Given the description of an element on the screen output the (x, y) to click on. 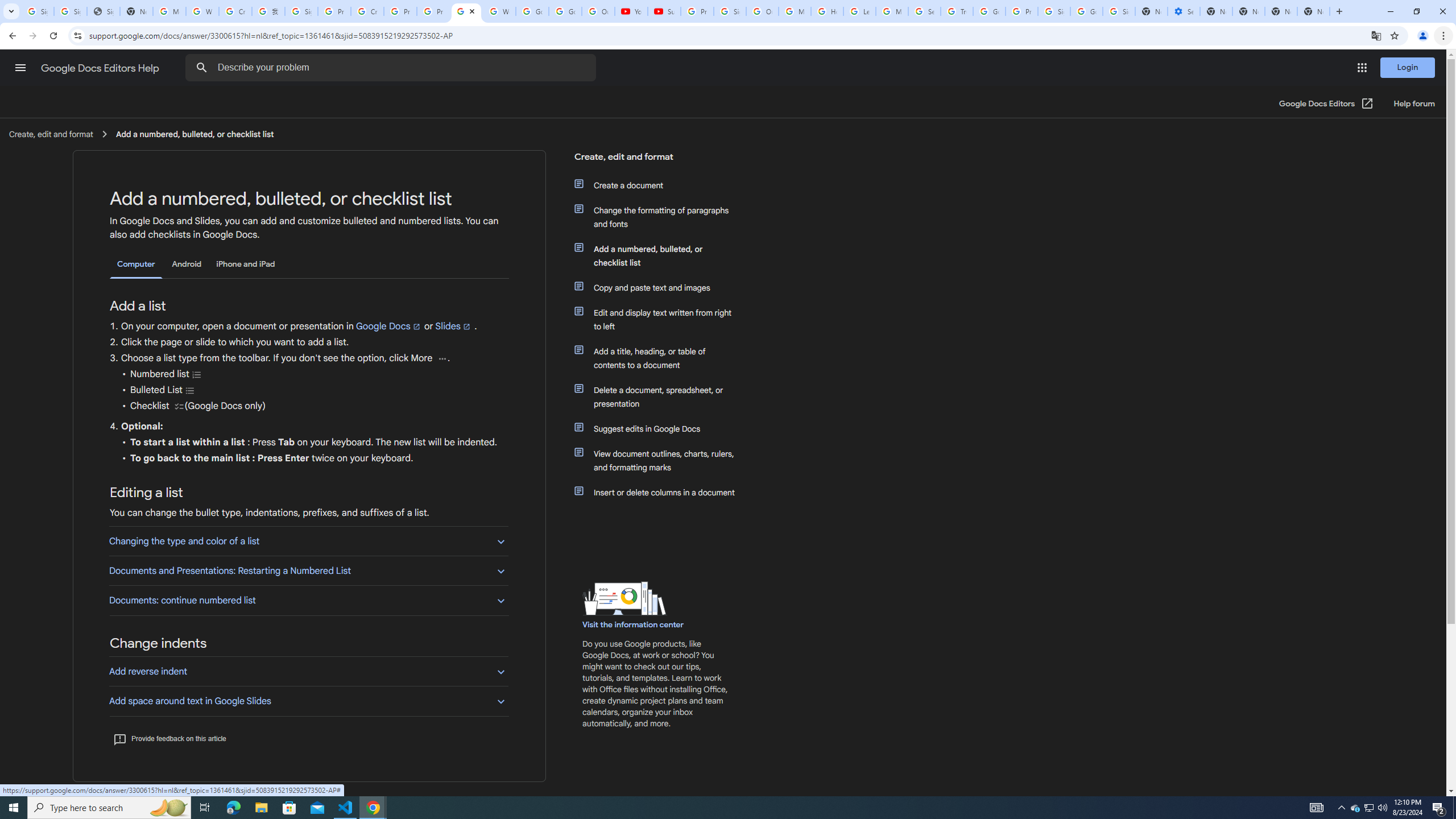
Delete a document, spreadsheet, or presentation (661, 396)
Copy and paste text and images (661, 287)
Google Docs Editors (Opens in new window) (1326, 103)
Google Cybersecurity Innovations - Google Safety Center (1086, 11)
Who is my administrator? - Google Account Help (202, 11)
Numbered list (197, 374)
Bulleted List (189, 389)
Visit the information center (633, 624)
Describe your problem (391, 67)
Create your Google Account (367, 11)
Add reverse indent (308, 671)
